Given the description of an element on the screen output the (x, y) to click on. 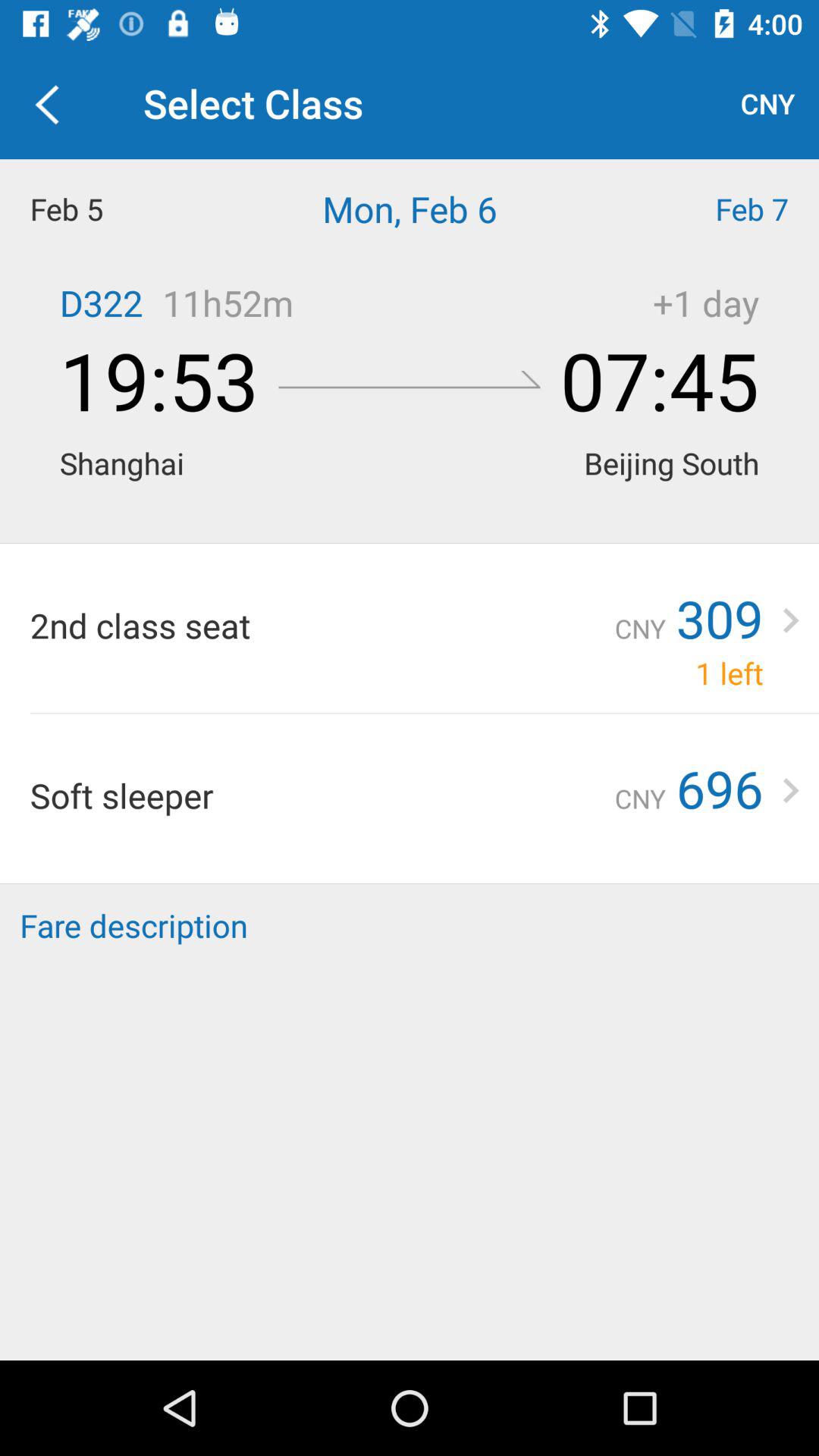
flip until the 696 icon (719, 787)
